Given the description of an element on the screen output the (x, y) to click on. 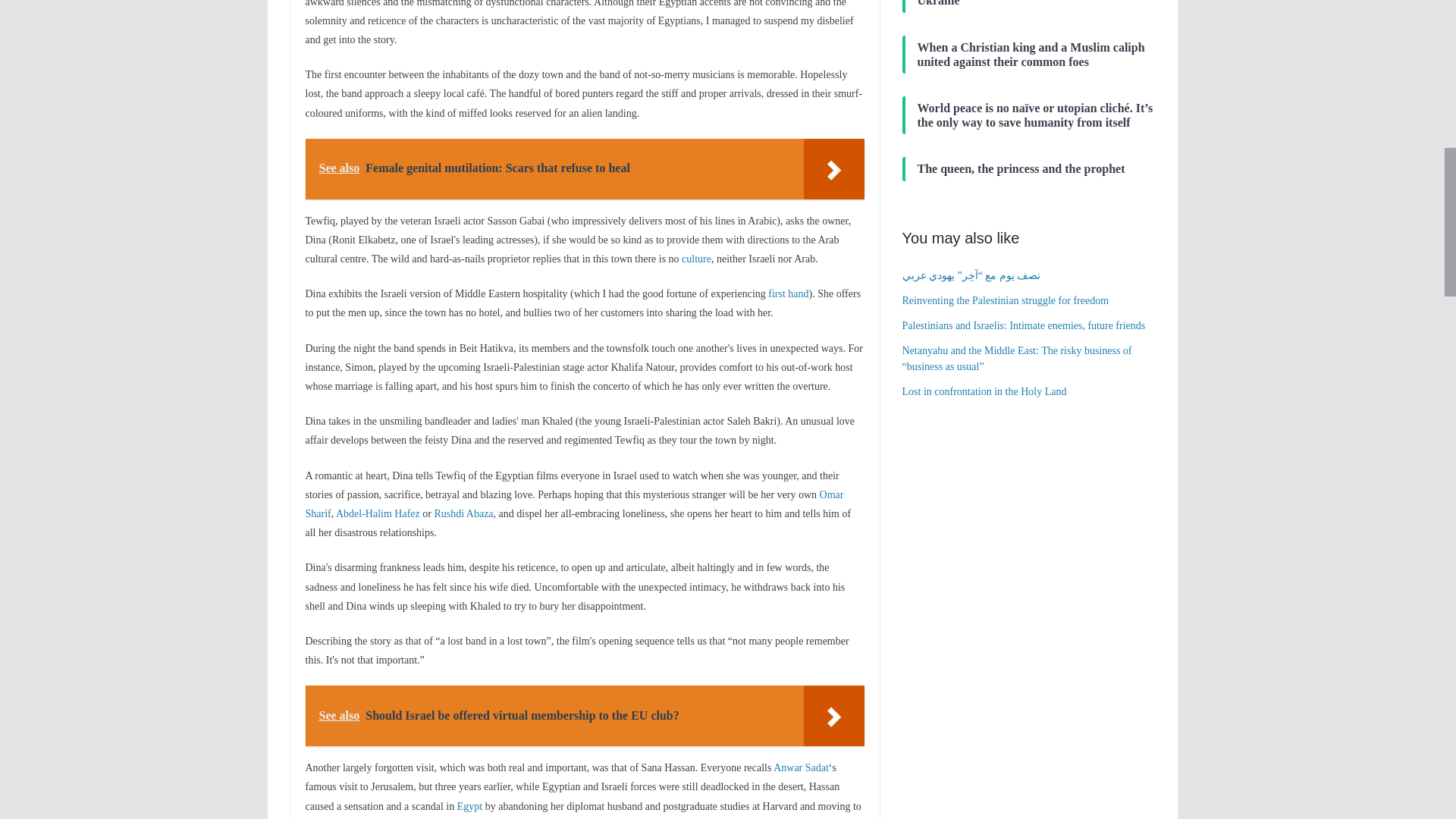
Posts tagged with culture (696, 258)
Posts tagged with Egypt (469, 806)
